Given the description of an element on the screen output the (x, y) to click on. 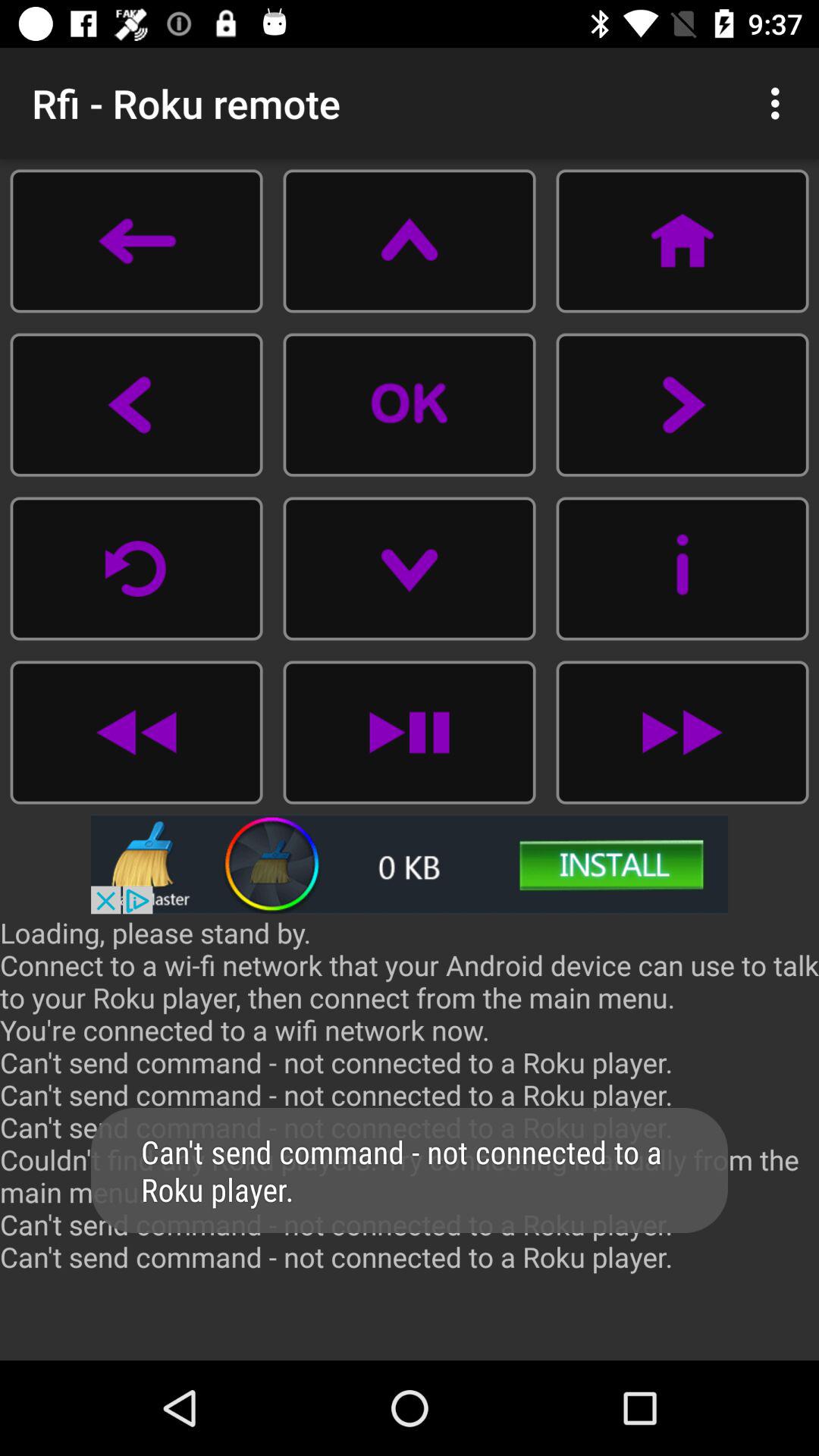
check to pay option (409, 732)
